Given the description of an element on the screen output the (x, y) to click on. 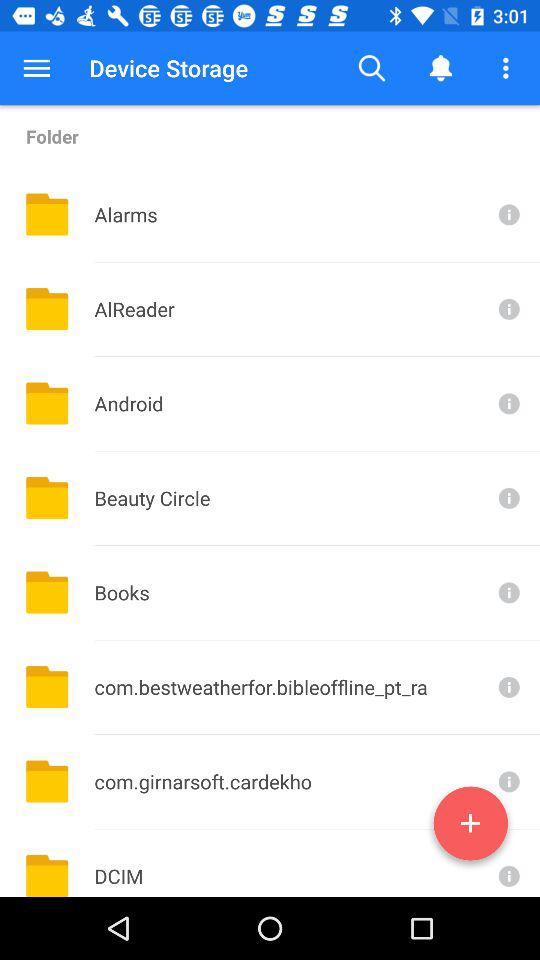
information button (507, 686)
